Given the description of an element on the screen output the (x, y) to click on. 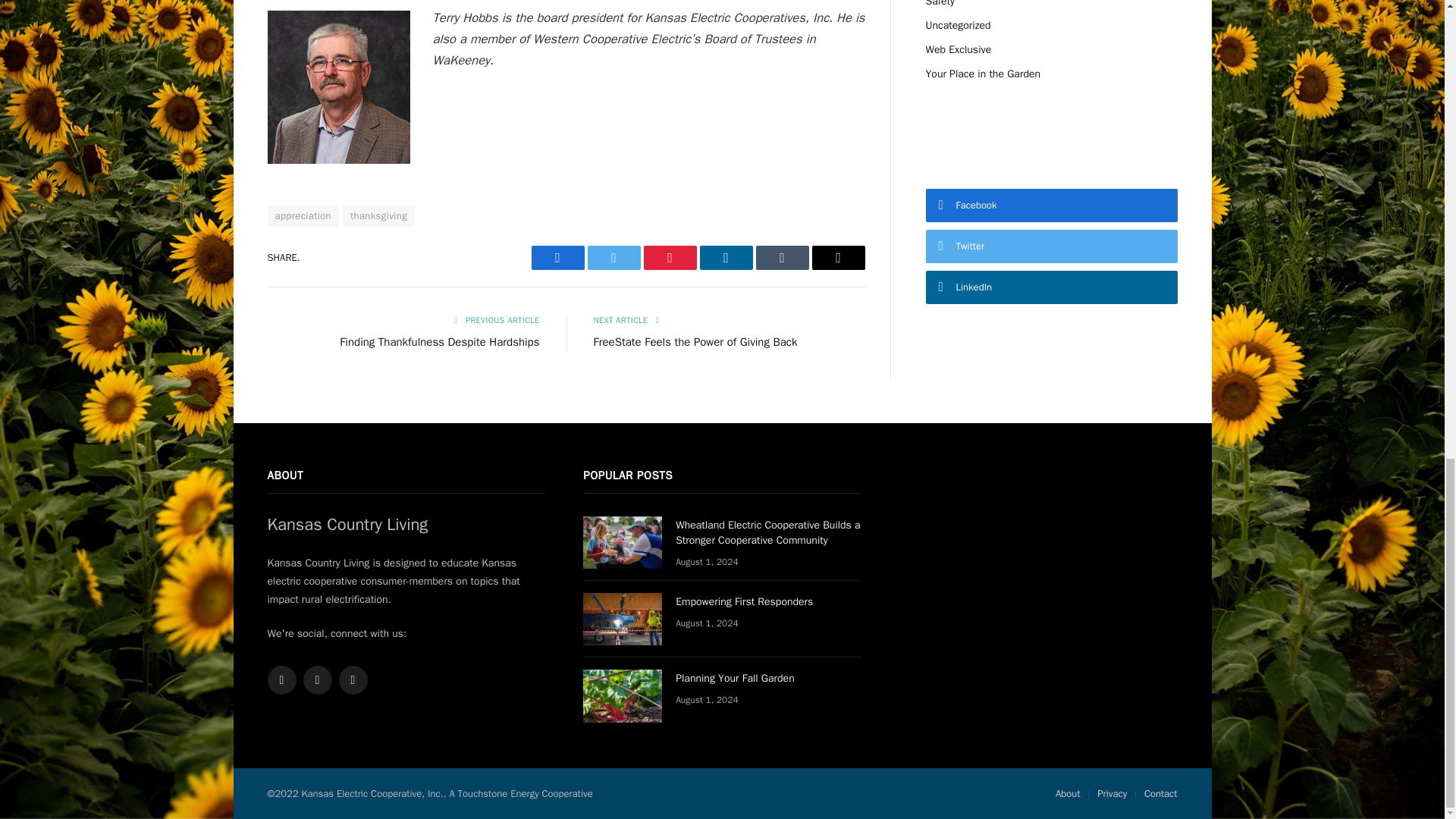
Share on Facebook (557, 257)
Share on Pinterest (669, 257)
Share on LinkedIn (725, 257)
